Given the description of an element on the screen output the (x, y) to click on. 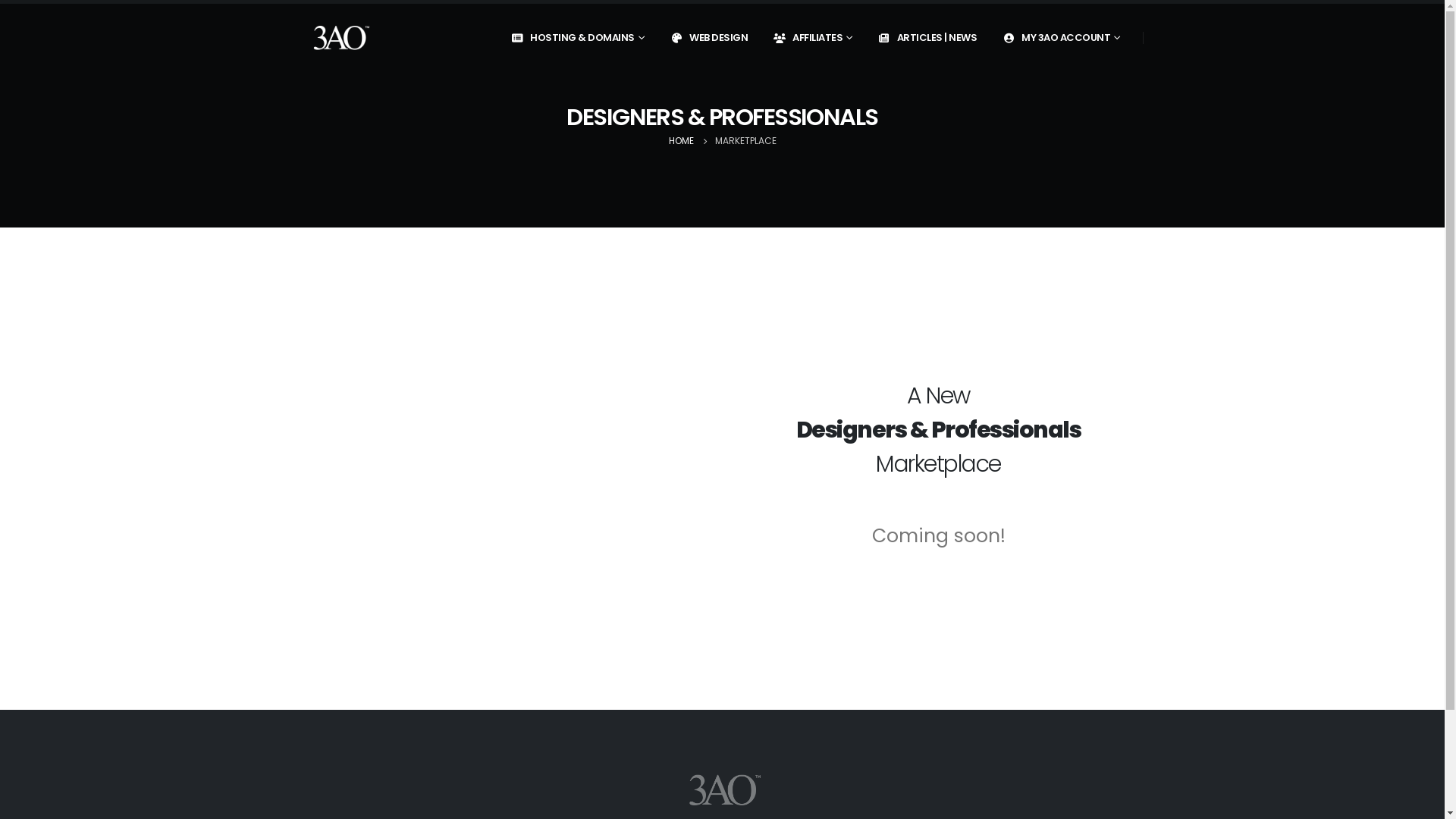
HOSTING & DOMAINS Element type: text (576, 37)
ARTICLES | NEWS Element type: text (926, 37)
MY 3AO ACCOUNT Element type: text (1060, 37)
AFFILIATES Element type: text (812, 37)
HOME Element type: text (680, 140)
3AO - Powerful Hosting Element type: hover (339, 37)
WEB DESIGN Element type: text (708, 37)
